Given the description of an element on the screen output the (x, y) to click on. 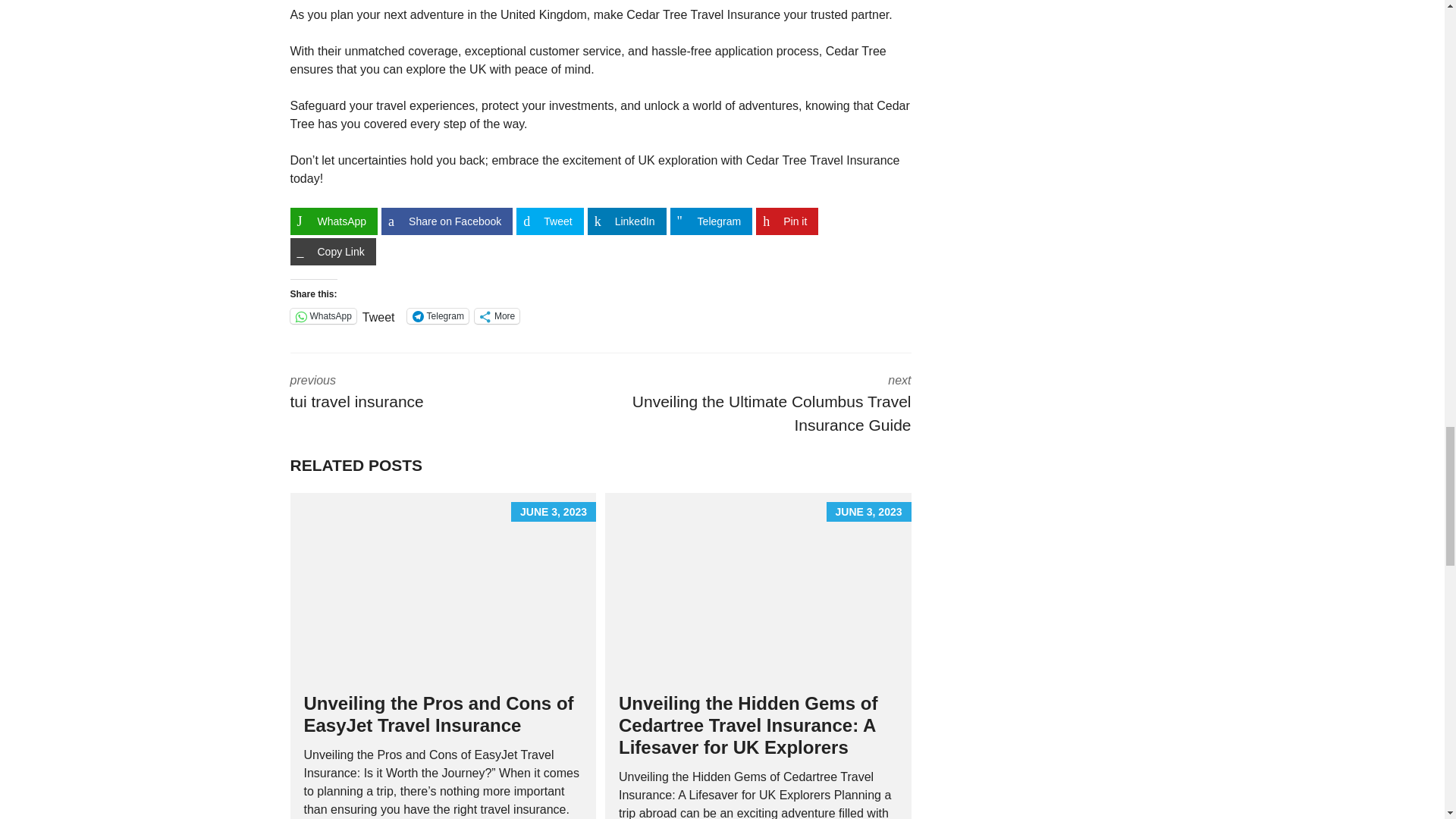
Tweet (549, 221)
Tweet (378, 315)
Telegram (710, 221)
WhatsApp (322, 315)
Pin it (786, 221)
Telegram (437, 315)
Share on Tweet (549, 221)
Share on WhatsApp (333, 221)
Share on Pin it (786, 221)
More (496, 315)
Click to share on Telegram (437, 315)
Cedar Tree Travel Insurance today! (594, 169)
WhatsApp (333, 221)
Share on Copy Link (332, 251)
